Given the description of an element on the screen output the (x, y) to click on. 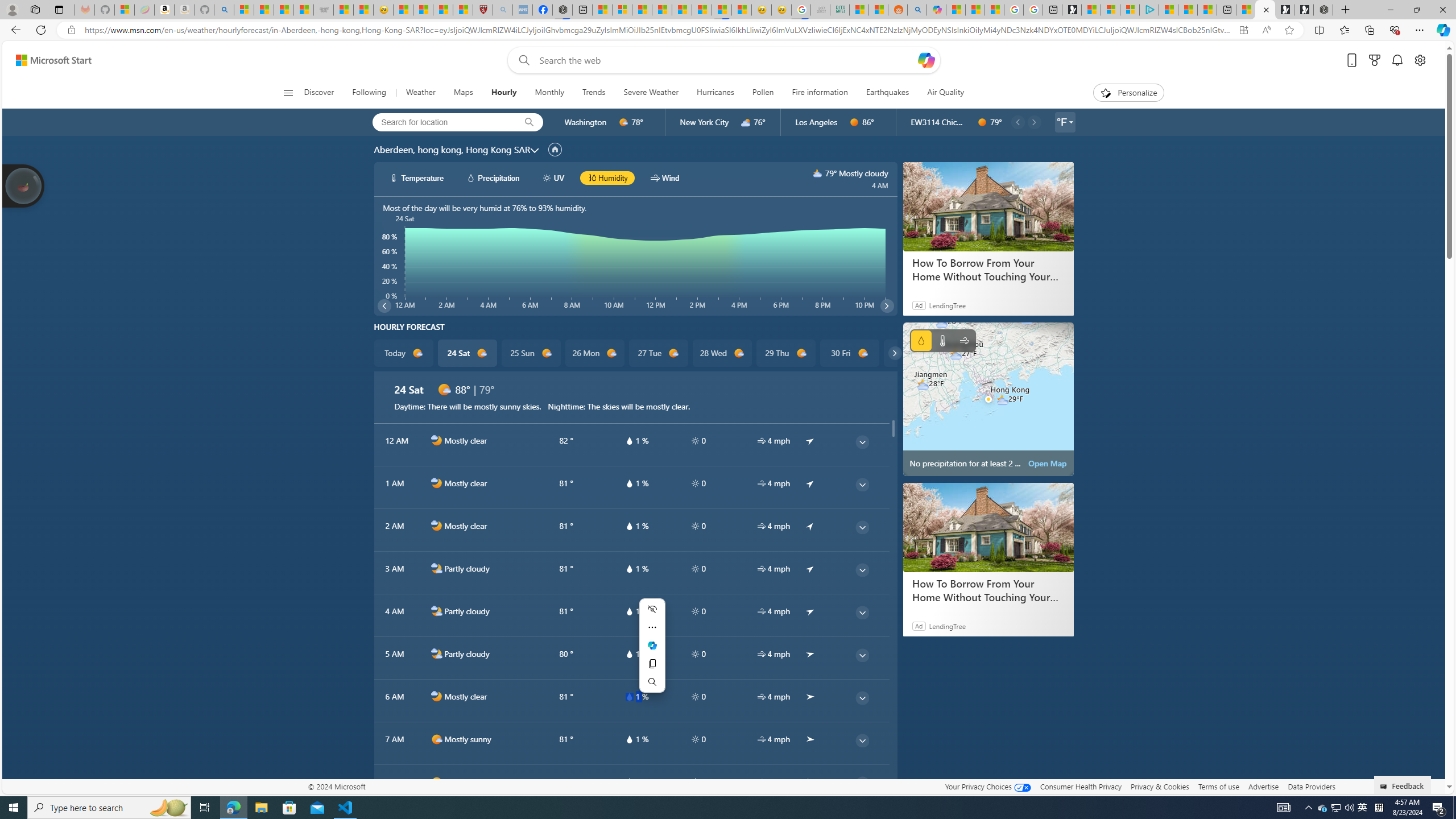
Join us in planting real trees to help our planet! (23, 184)
Search for location (440, 122)
locationBar/triangle (1070, 122)
Severe Weather (651, 92)
Mini menu on text selection (652, 651)
